Given the description of an element on the screen output the (x, y) to click on. 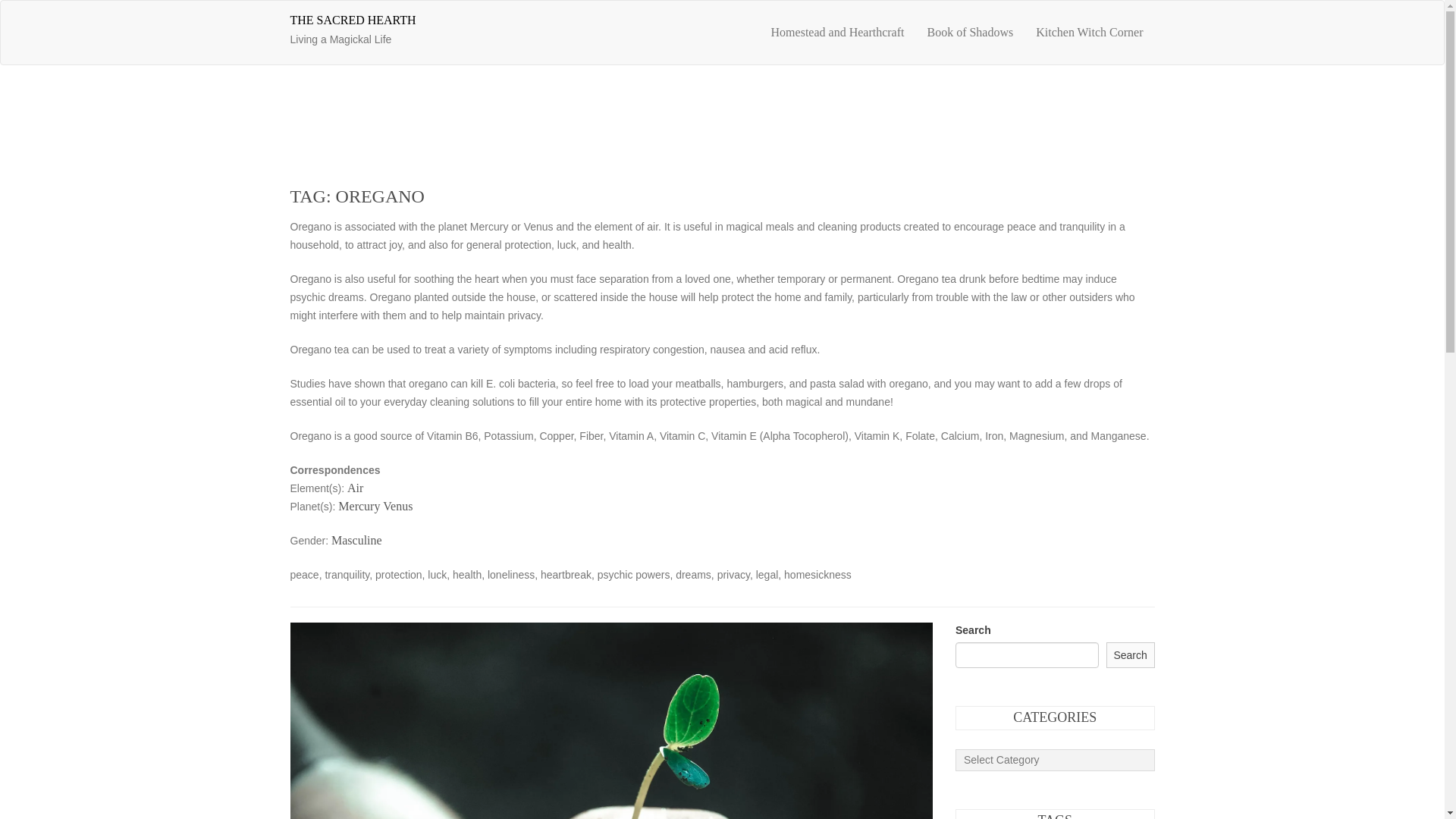
Air (365, 32)
Venus (354, 487)
Homestead and Hearthcraft (397, 505)
Kitchen Witch Corner (837, 32)
Search (1089, 32)
Book of Shadows (1130, 655)
Masculine (970, 32)
Book of Shadows (356, 540)
THE SACRED HEARTH (970, 32)
Mercury (351, 19)
Kitchen Witch Corner (358, 505)
Homestead and Hearthcraft (1089, 32)
